Given the description of an element on the screen output the (x, y) to click on. 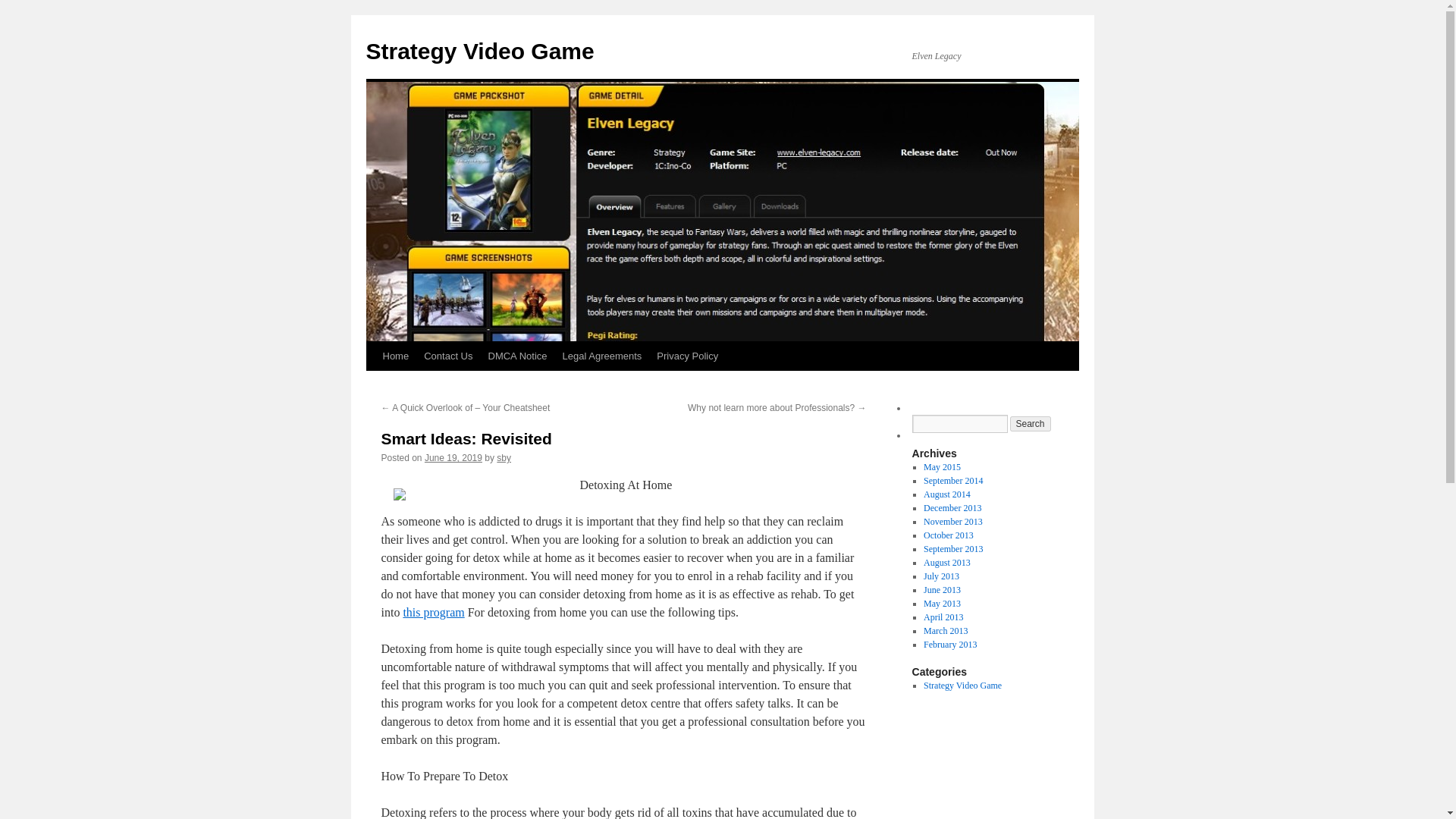
sby (503, 457)
June 2013 (941, 589)
Search (1030, 423)
Contact Us (448, 356)
November 2013 (952, 521)
December 2013 (952, 507)
Strategy Video Game (479, 50)
April 2013 (942, 616)
August 2013 (947, 562)
March 2013 (945, 630)
Strategy Video Game (962, 685)
September 2013 (952, 548)
September 2014 (952, 480)
this program (433, 612)
Strategy Video Game (479, 50)
